Given the description of an element on the screen output the (x, y) to click on. 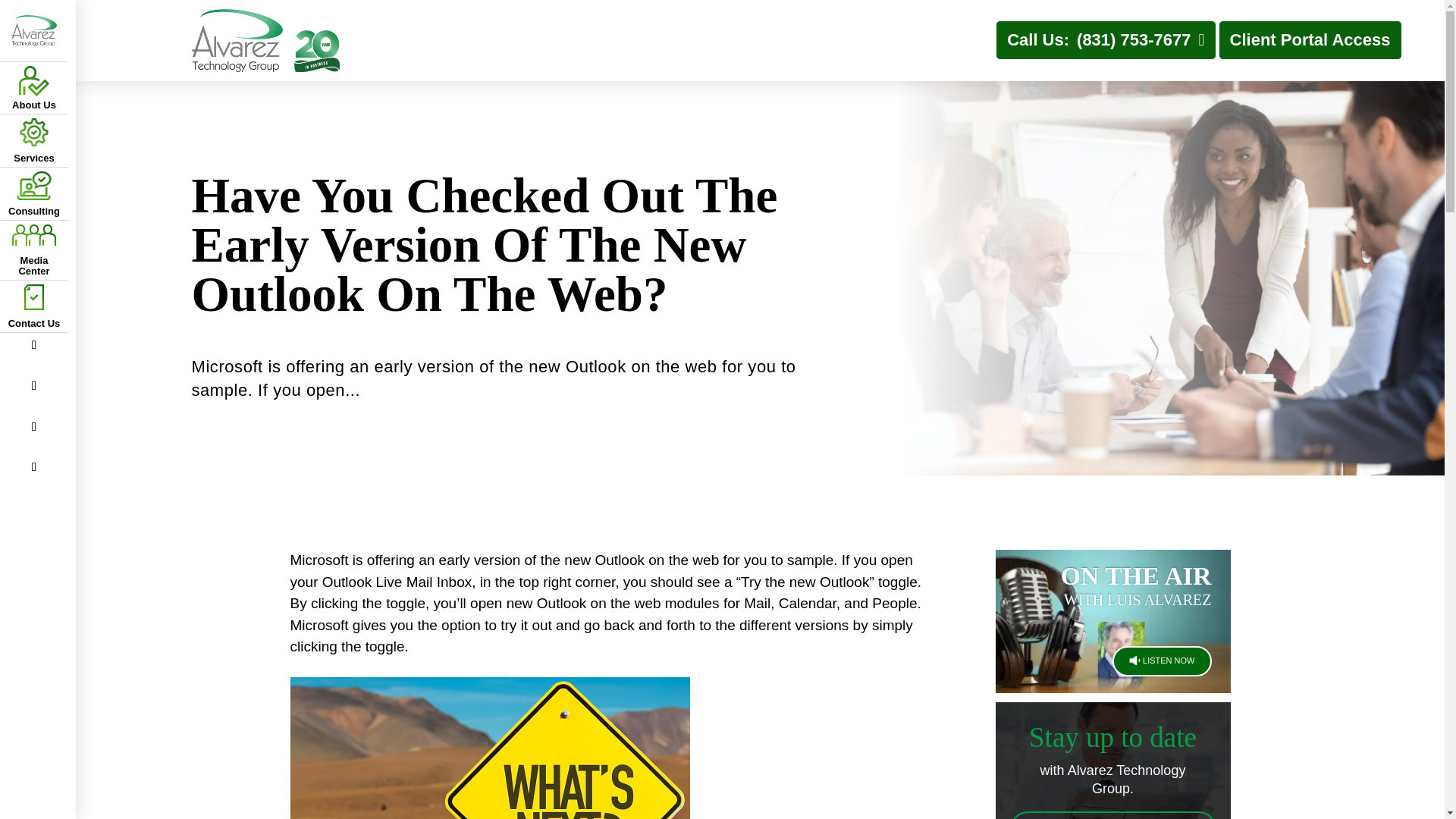
Follow on LinkedIn (33, 426)
Follow on X (33, 385)
Follow on Facebook (33, 344)
Consulting (34, 194)
About Us (34, 88)
Contact Us (34, 306)
Services (34, 140)
Media Center (34, 250)
Follow on Youtube (33, 467)
Alvarez Logo (33, 30)
